Given the description of an element on the screen output the (x, y) to click on. 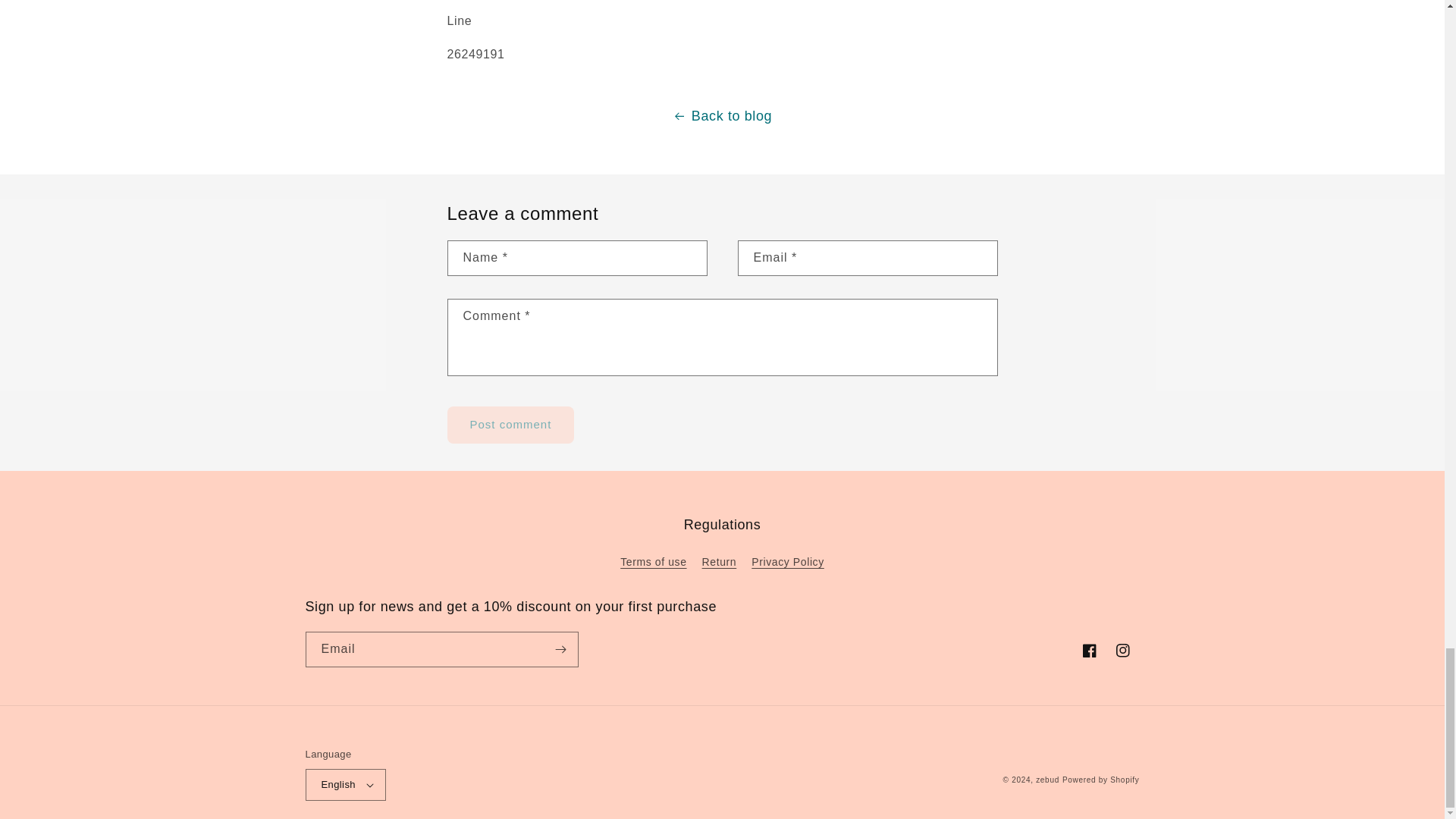
Post comment (510, 424)
